Given the description of an element on the screen output the (x, y) to click on. 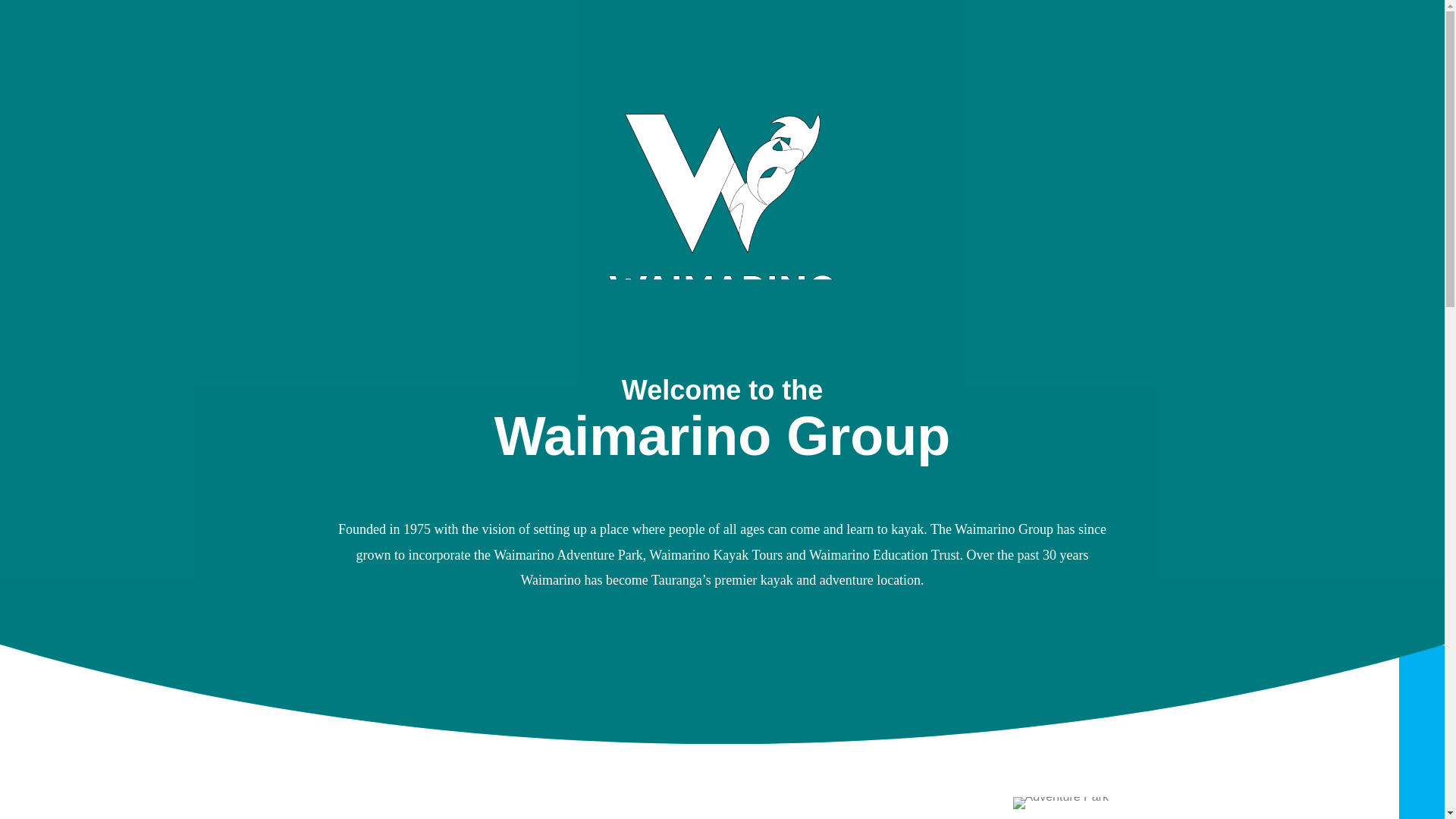
Adventure Park (1060, 802)
Waimarino Group Logo White (721, 223)
